Given the description of an element on the screen output the (x, y) to click on. 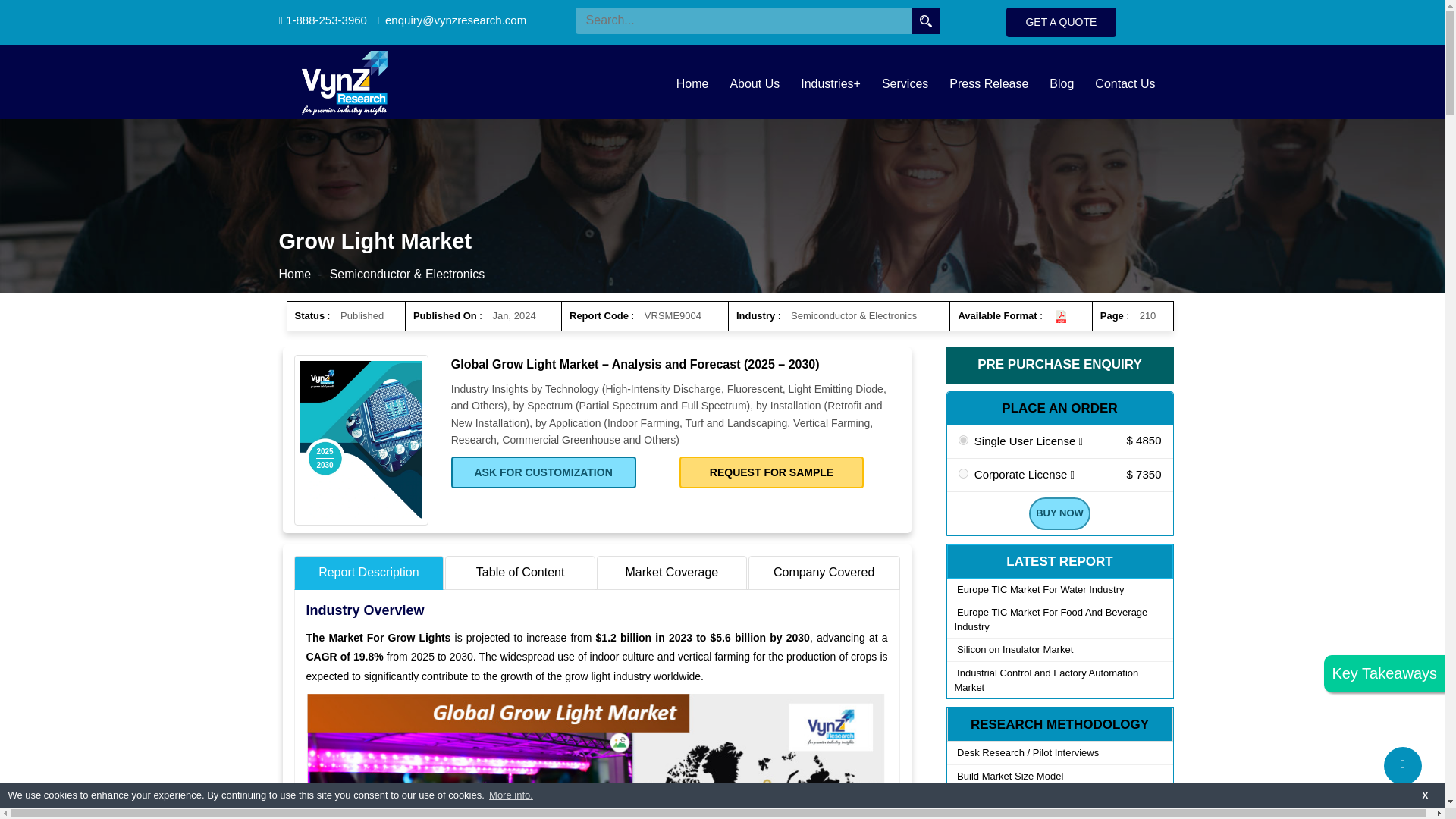
More info. (510, 794)
get a quote (1061, 21)
 1-888-253-3960 (322, 19)
Company Covered (823, 572)
Home (295, 273)
Scroll Top (1403, 765)
Blog (1061, 84)
Market Coverage (671, 572)
Industries (830, 84)
Report Description (369, 572)
GET A QUOTE (1061, 21)
About Us (754, 84)
PRE PURCHASE ENQUIRY (1059, 365)
X (1425, 794)
Buy Now (1059, 513)
